Given the description of an element on the screen output the (x, y) to click on. 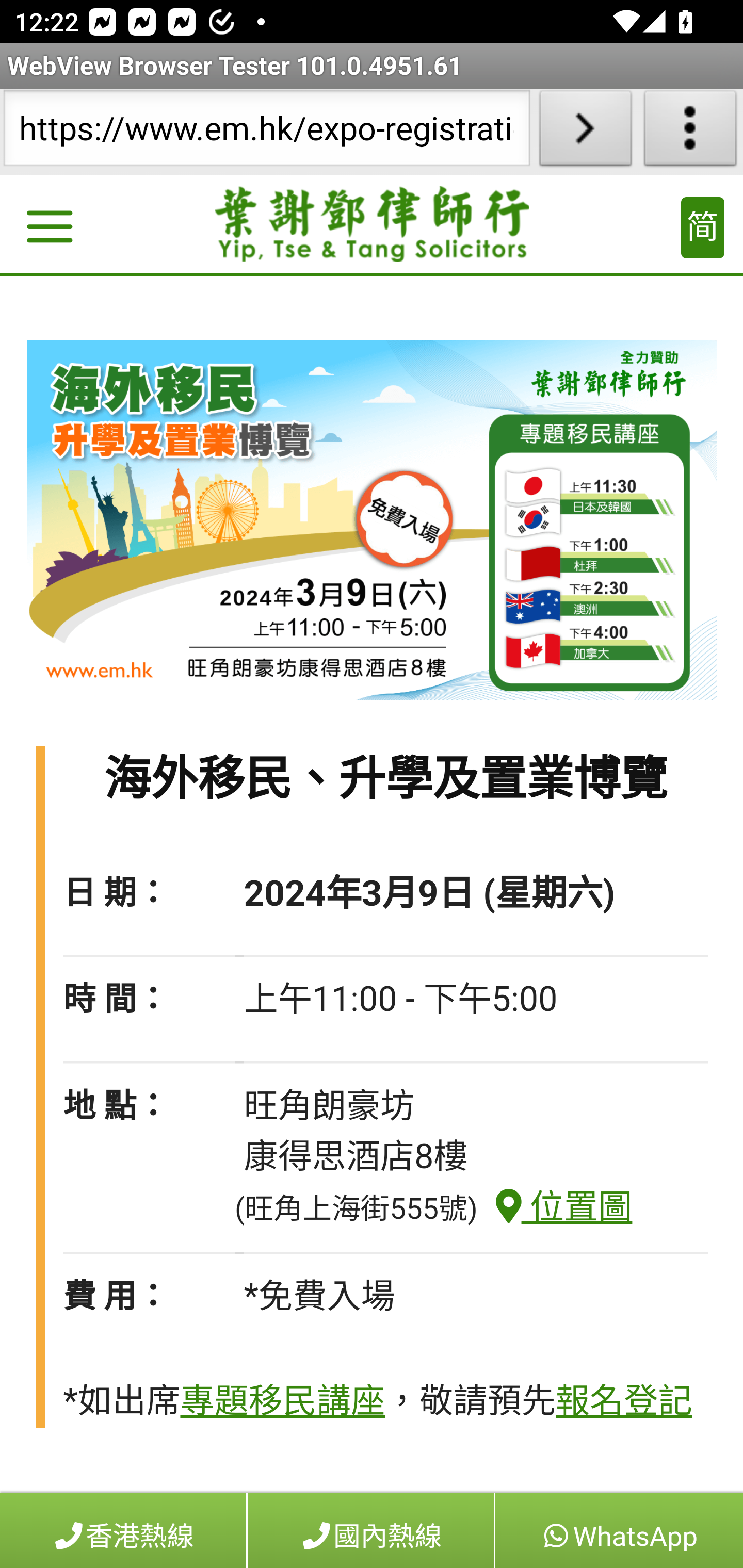
Load URL (585, 132)
About WebView (690, 132)
葉謝鄧律師行 (372, 224)
 (48, 229)
简 (702, 227)
 位置圖 (555, 1206)
專題移民講座 (282, 1401)
報名登記 (623, 1401)
香港熱線 (123, 1530)
國內熱線 (370, 1530)
WhatsApp (618, 1530)
